Given the description of an element on the screen output the (x, y) to click on. 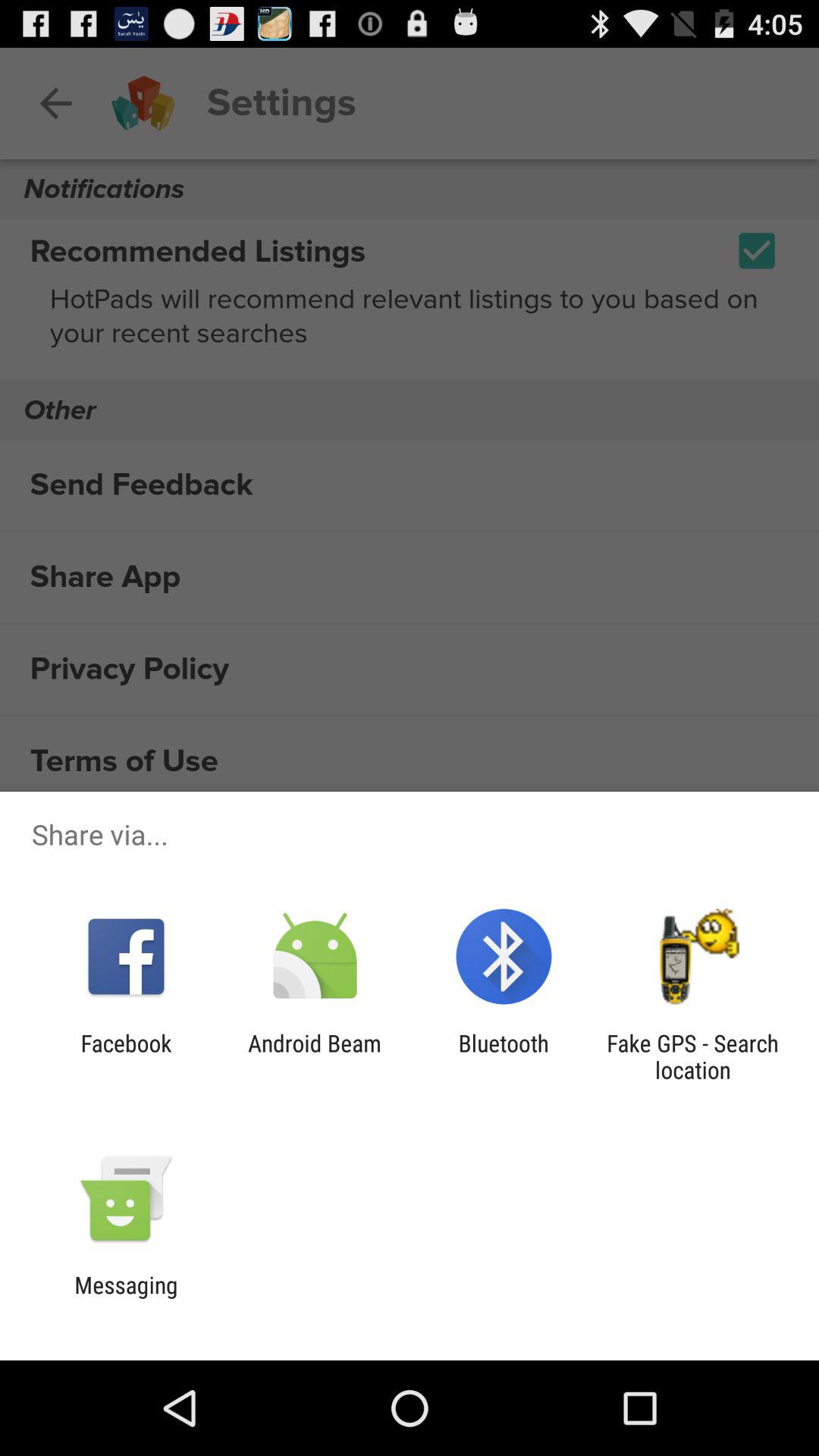
turn off app to the right of bluetooth item (692, 1056)
